Given the description of an element on the screen output the (x, y) to click on. 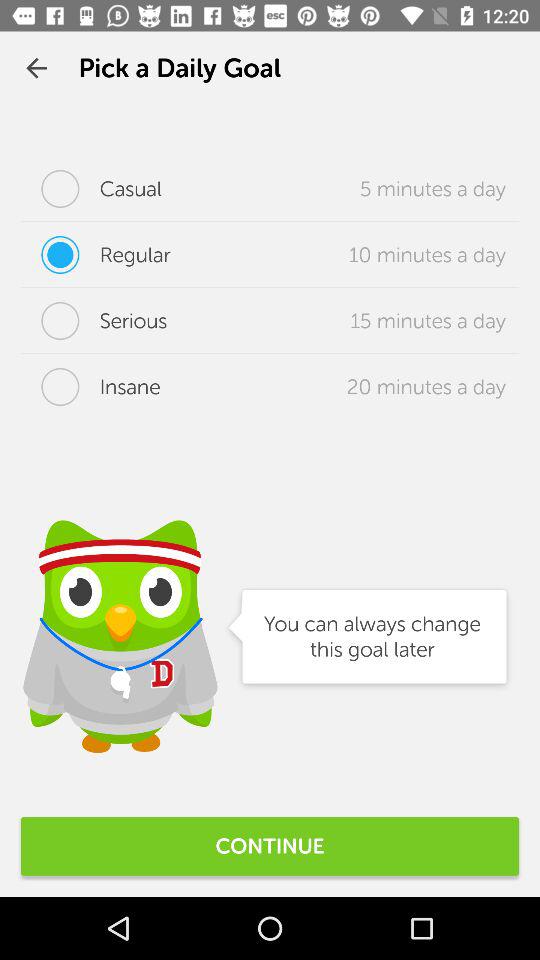
tap icon next to 20 minutes a icon (90, 387)
